Given the description of an element on the screen output the (x, y) to click on. 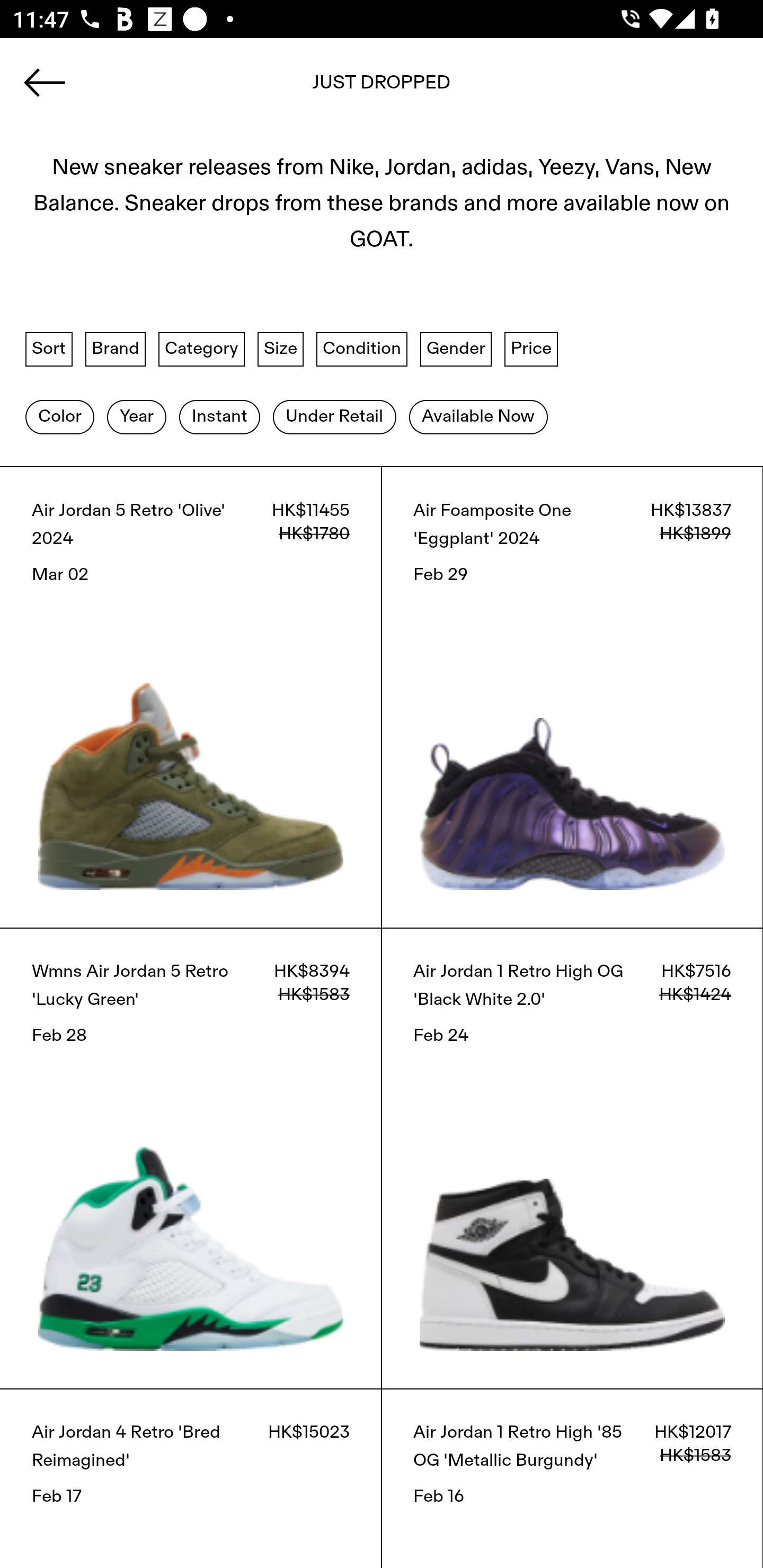
soccer shoes (381, 88)
Sort (48, 348)
Brand (115, 348)
Category (201, 348)
Size (280, 348)
Condition (361, 348)
Gender (455, 348)
Price (530, 348)
Color (59, 416)
Year (136, 416)
Instant (219, 416)
Under Retail (334, 416)
Available Now (477, 416)
